Given the description of an element on the screen output the (x, y) to click on. 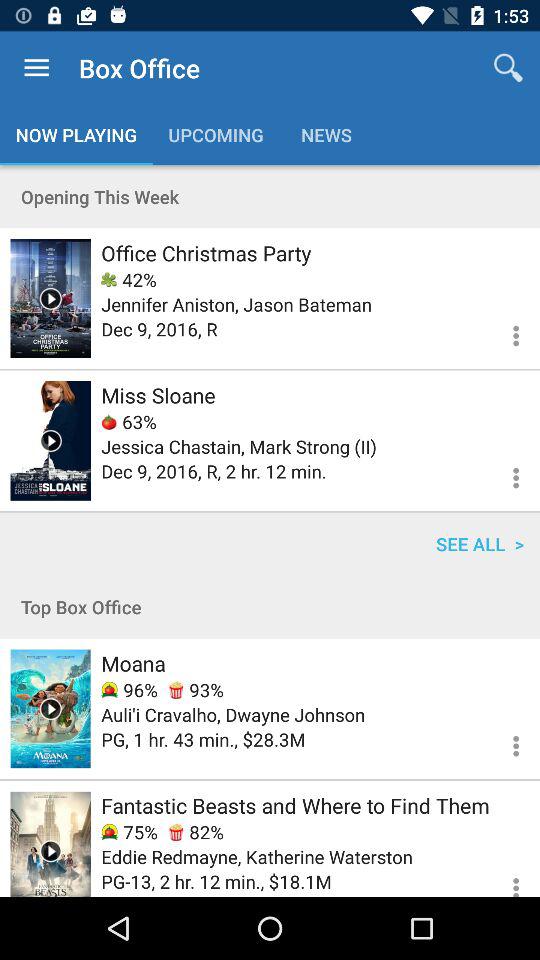
get more details (503, 743)
